Given the description of an element on the screen output the (x, y) to click on. 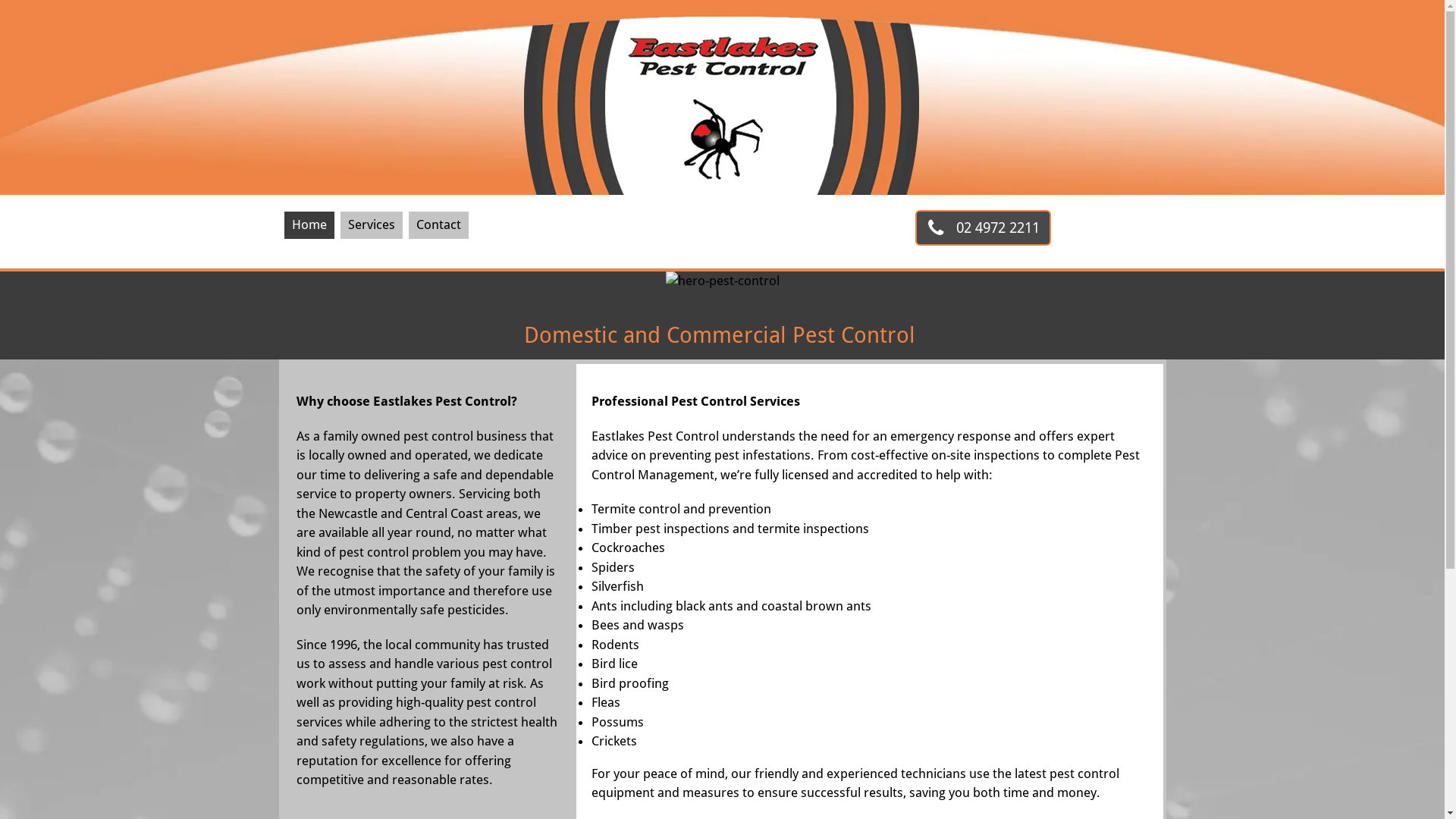
Contact Element type: text (438, 224)
eastlakes pest control business logo Element type: hover (721, 97)
02 4972 2211 Element type: text (982, 227)
Home Element type: text (309, 224)
hero-pest-control Element type: hover (722, 285)
Services Element type: text (371, 224)
